Given the description of an element on the screen output the (x, y) to click on. 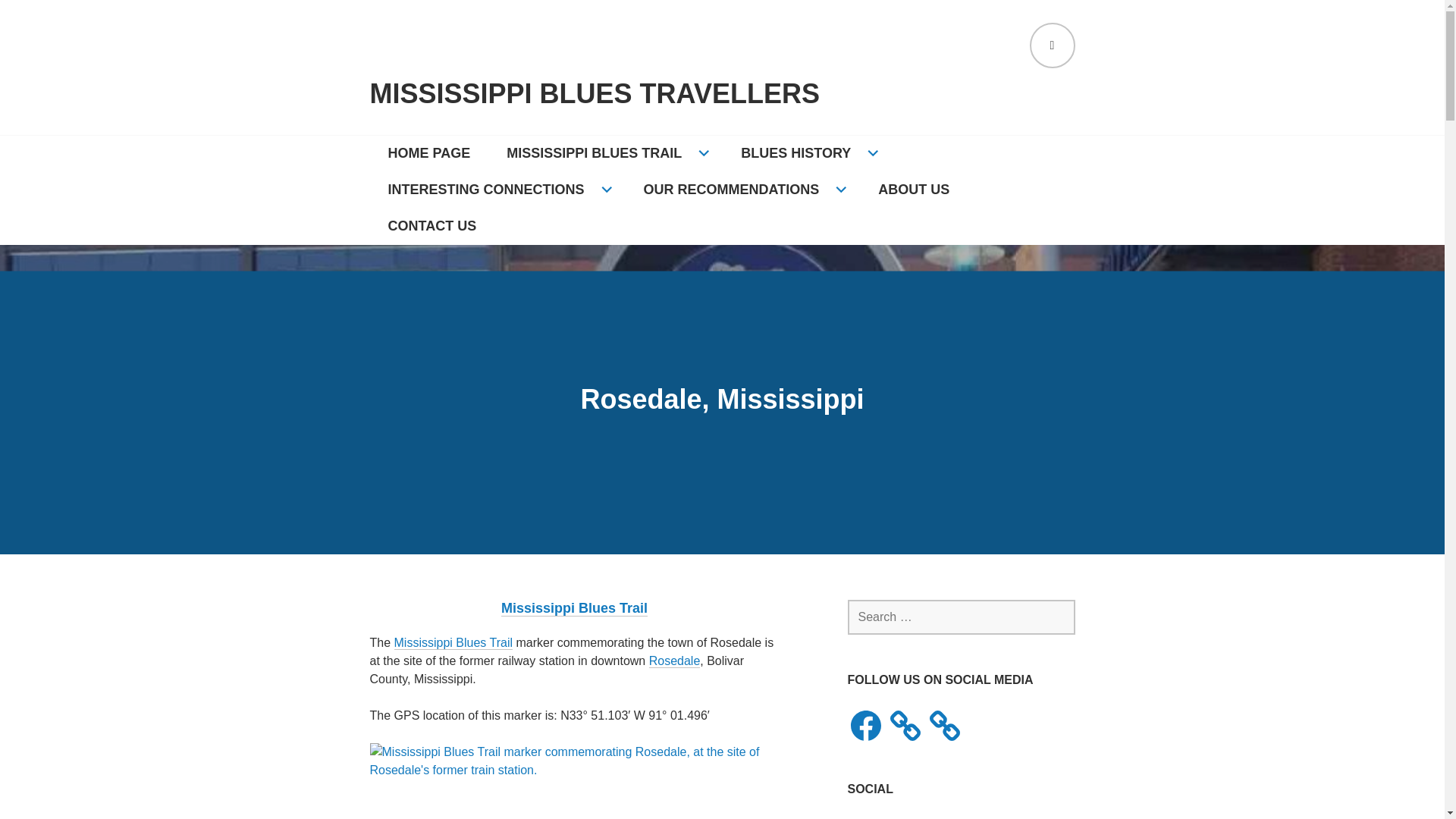
Rosedale (674, 661)
ABOUT US (914, 189)
OUR RECOMMENDATIONS (743, 189)
Mississippi Blues Trail (573, 608)
HOME PAGE (429, 153)
CONTACT US (432, 226)
BLUES HISTORY (806, 153)
SEARCH (1052, 44)
Mississippi Blues Trail (453, 643)
MISSISSIPPI BLUES TRAVELLERS (594, 94)
INTERESTING CONNECTIONS (497, 189)
MISSISSIPPI BLUES TRAIL (604, 153)
